Given the description of an element on the screen output the (x, y) to click on. 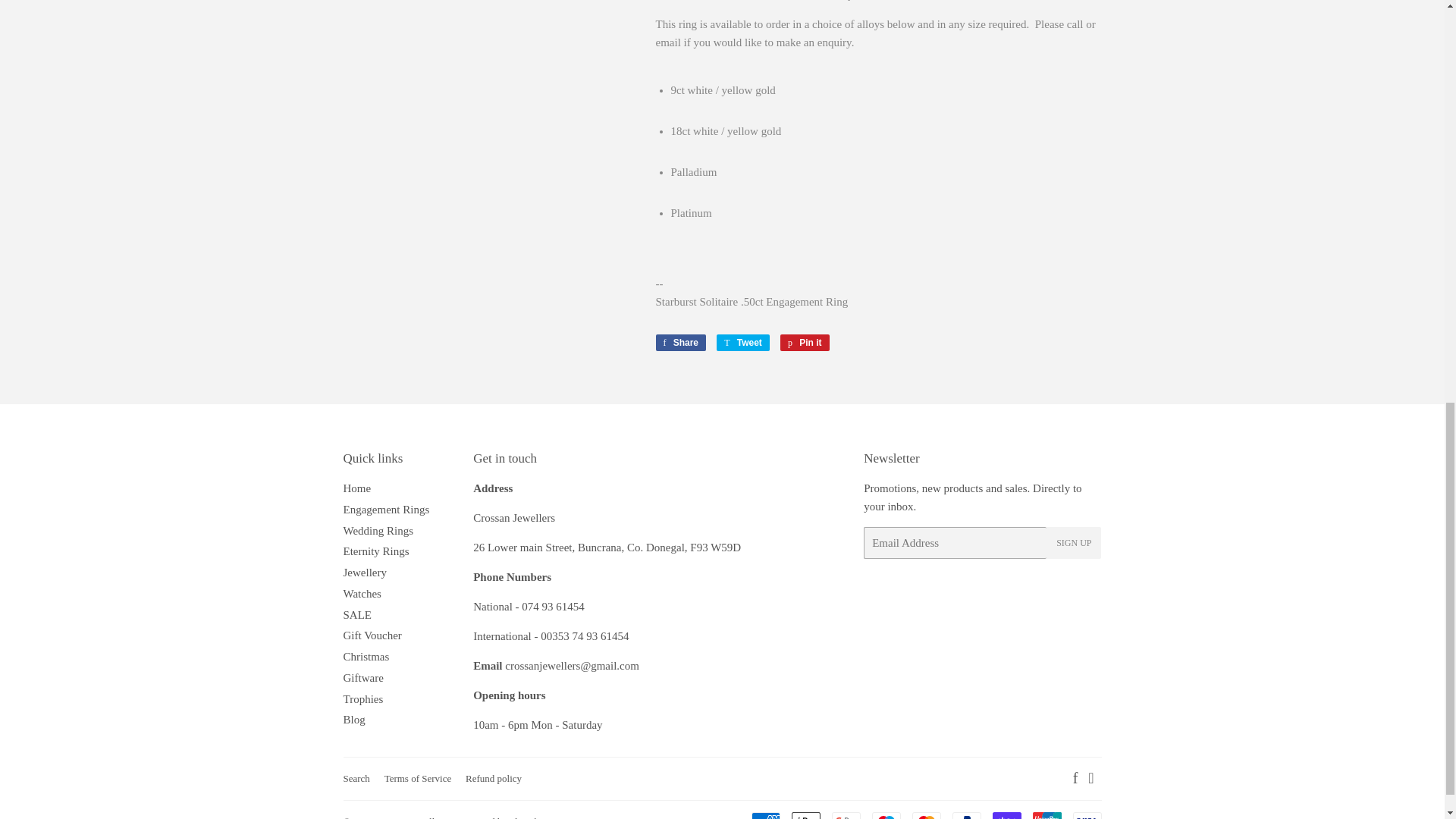
Mastercard (925, 815)
Pin on Pinterest (804, 342)
Tweet on Twitter (743, 342)
PayPal (966, 815)
American Express (764, 815)
Maestro (886, 815)
Apple Pay (806, 815)
Shop Pay (1005, 815)
Visa (1085, 815)
Union Pay (1046, 815)
Google Pay (845, 815)
Share on Facebook (680, 342)
